Given the description of an element on the screen output the (x, y) to click on. 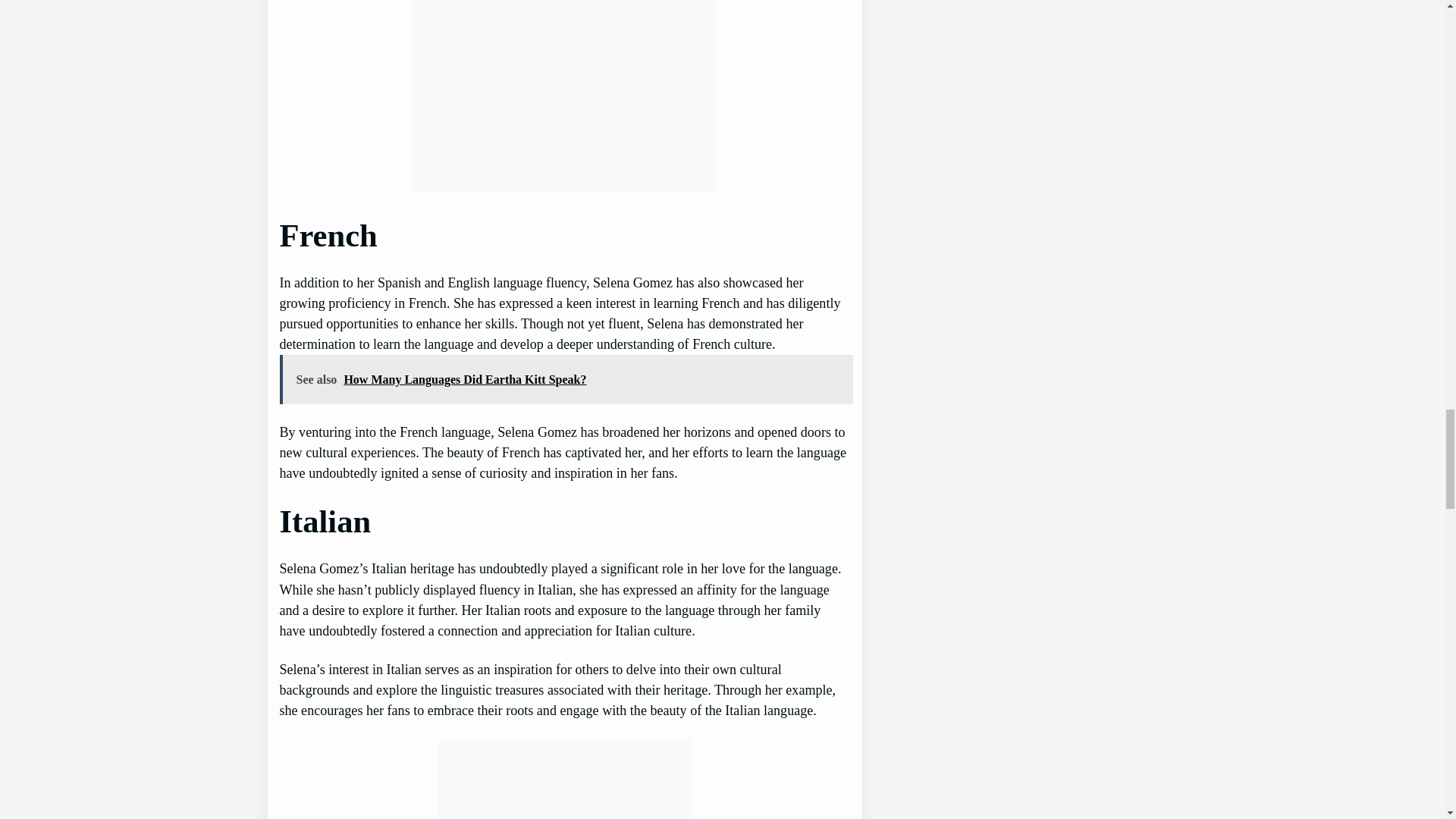
How Many Languages Does Selena Gomez Speak? (563, 779)
How Many Languages Does Selena Gomez Speak? (563, 95)
See also  How Many Languages Did Eartha Kitt Speak? (565, 379)
